Given the description of an element on the screen output the (x, y) to click on. 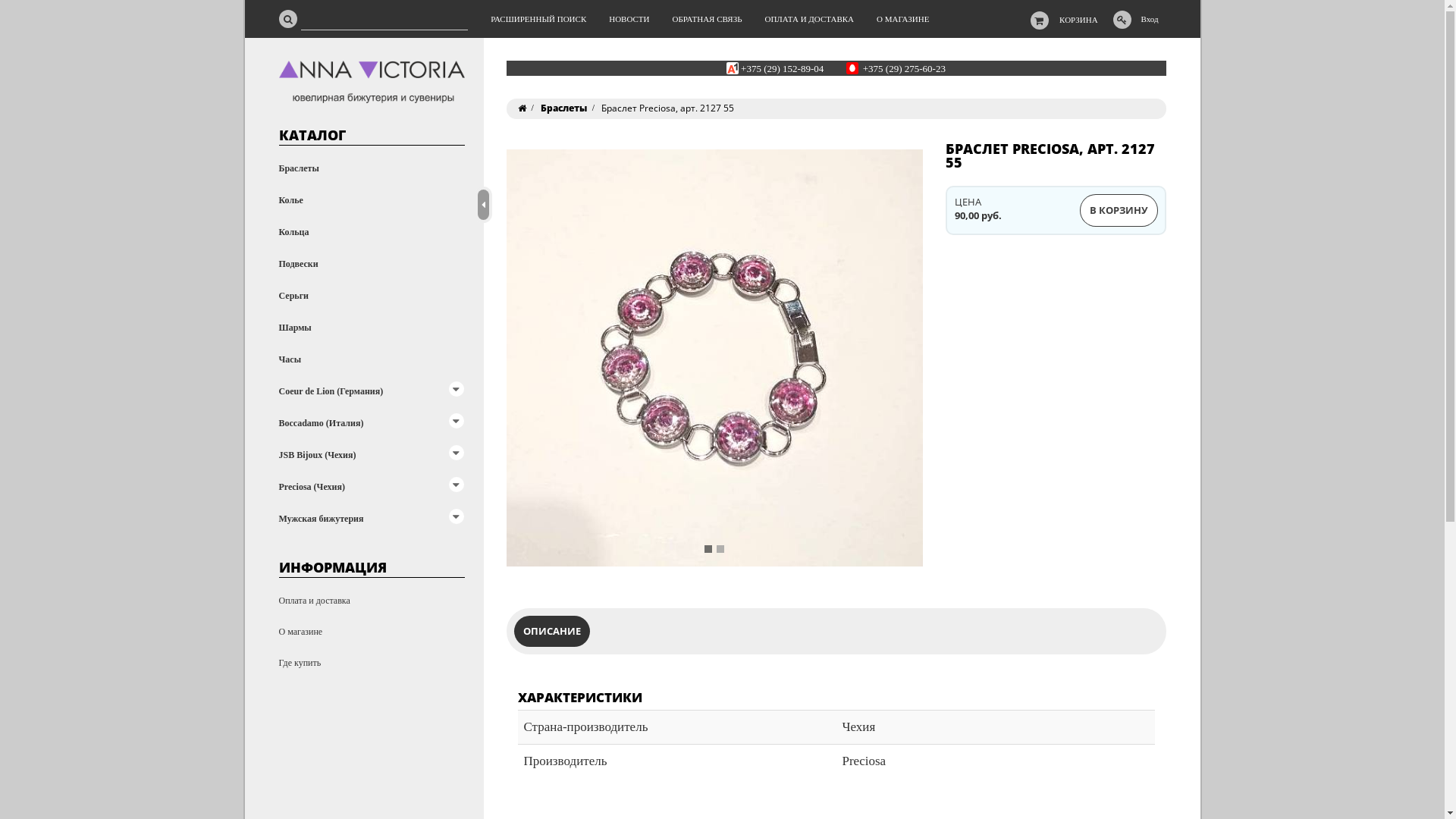
+375 (29) 275-60-23 Element type: text (903, 67)
+375 (29) 152-89-04 Element type: text (781, 67)
